Given the description of an element on the screen output the (x, y) to click on. 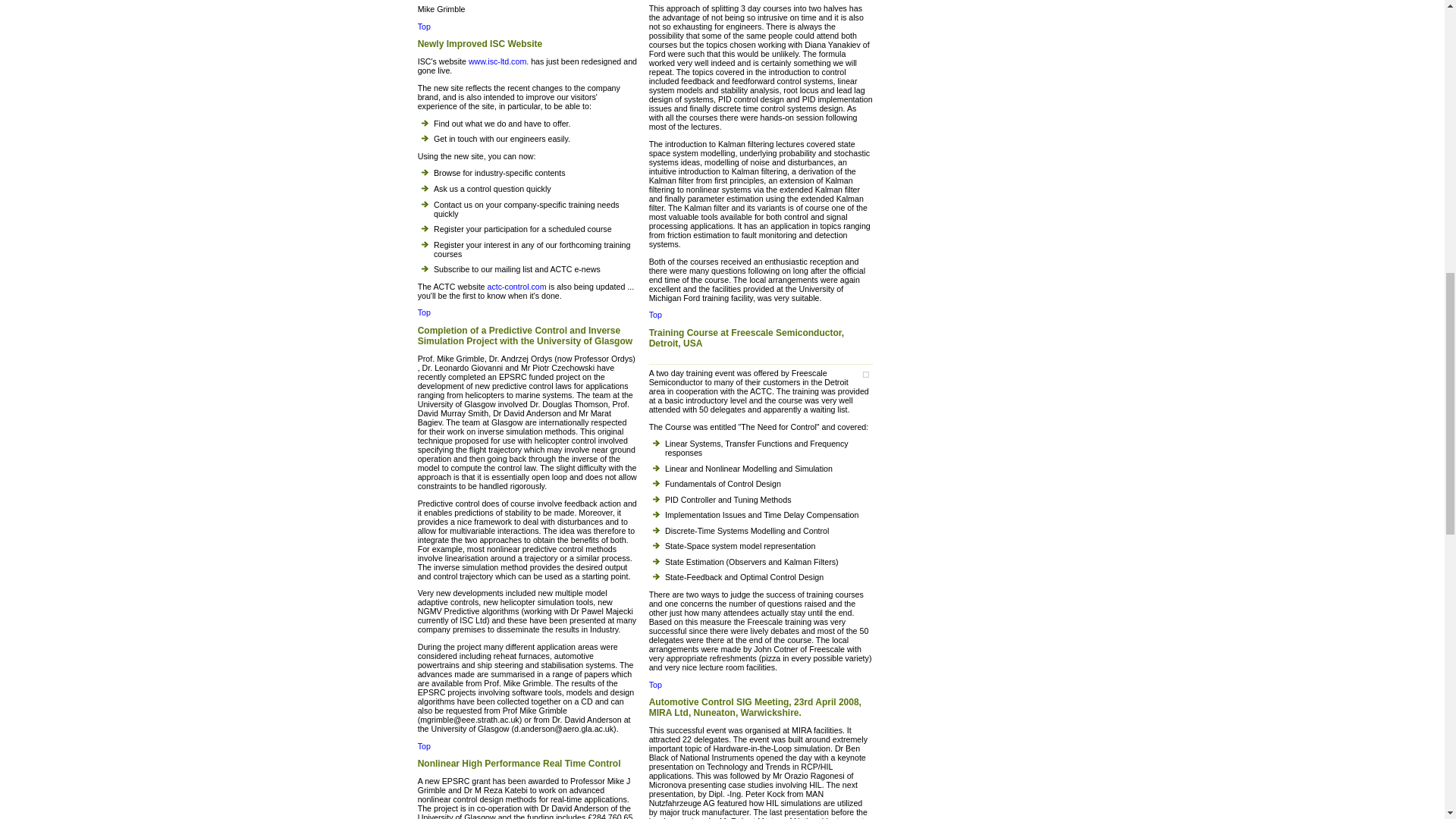
www.isc-ltd.com. (498, 61)
Newly Improved ISC Website (527, 45)
Top (423, 26)
actc-control.com (516, 286)
Top (423, 311)
